Given the description of an element on the screen output the (x, y) to click on. 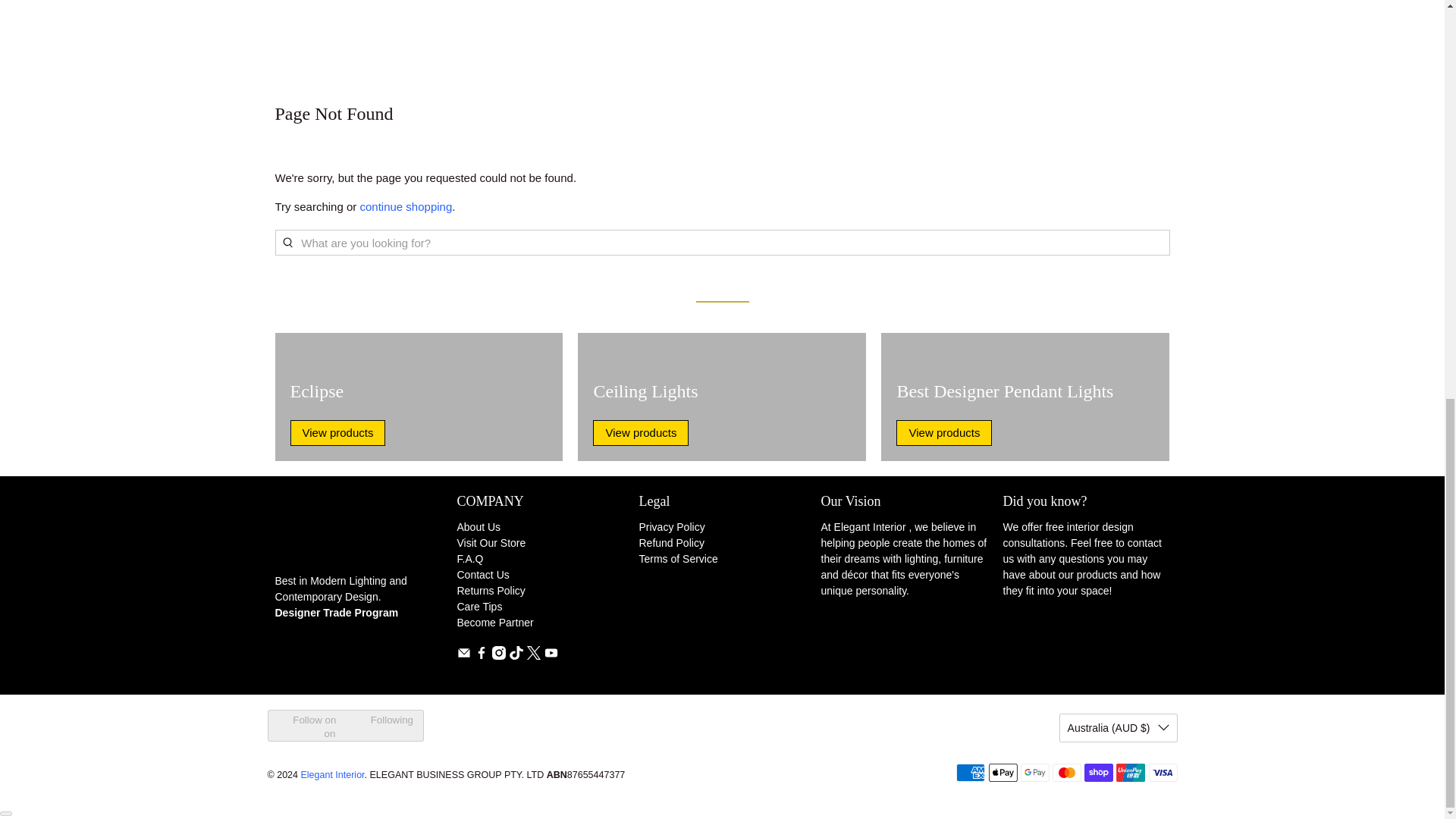
Elegant Interior on YouTube (550, 655)
American Express (970, 772)
Mastercard (1066, 772)
Google Pay (1034, 772)
Elegant Interior on X (532, 655)
Union Pay (1130, 772)
Apple Pay (1002, 772)
Elegant Interior on TikTok (515, 655)
Shop Pay (1098, 772)
Email Elegant Interior (463, 655)
Visa (1162, 772)
Elegant Interior (358, 532)
Elegant Interior on Instagram (498, 655)
Elegant Interior on Facebook (480, 655)
